Given the description of an element on the screen output the (x, y) to click on. 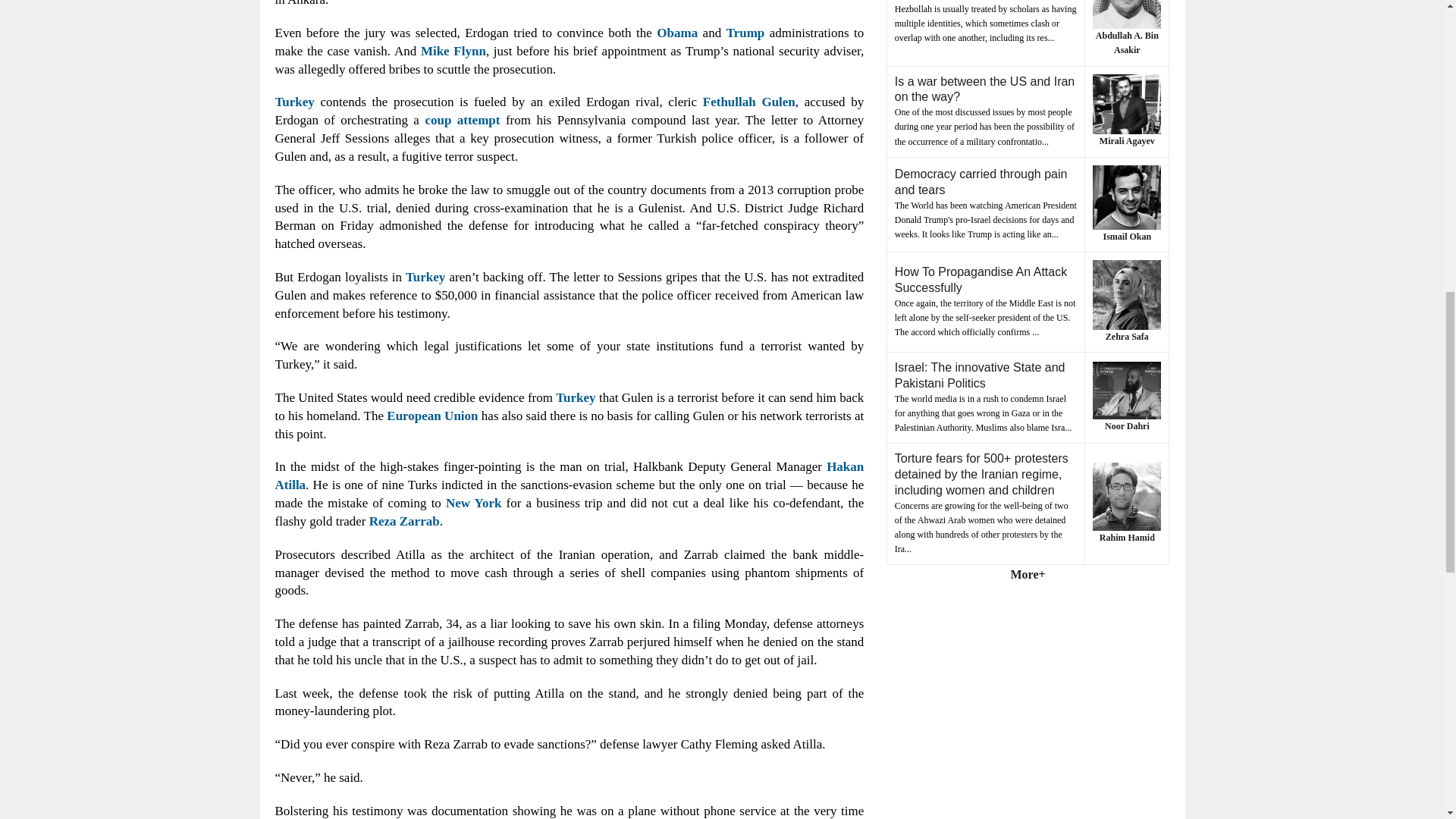
Trump (745, 32)
Turkey (294, 101)
Mike Flynn (453, 51)
Obama (676, 32)
